Given the description of an element on the screen output the (x, y) to click on. 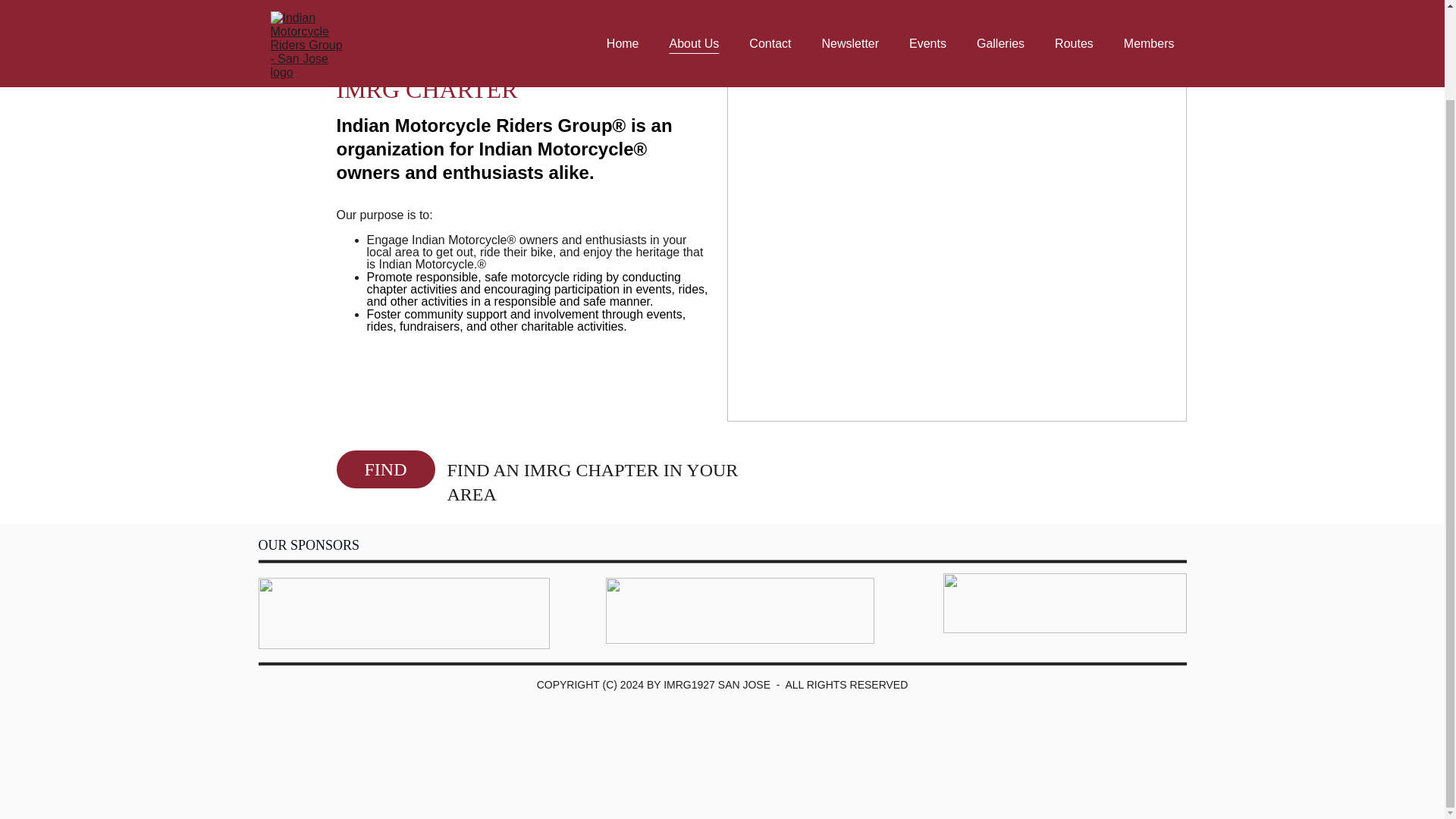
FIND (385, 469)
